Given the description of an element on the screen output the (x, y) to click on. 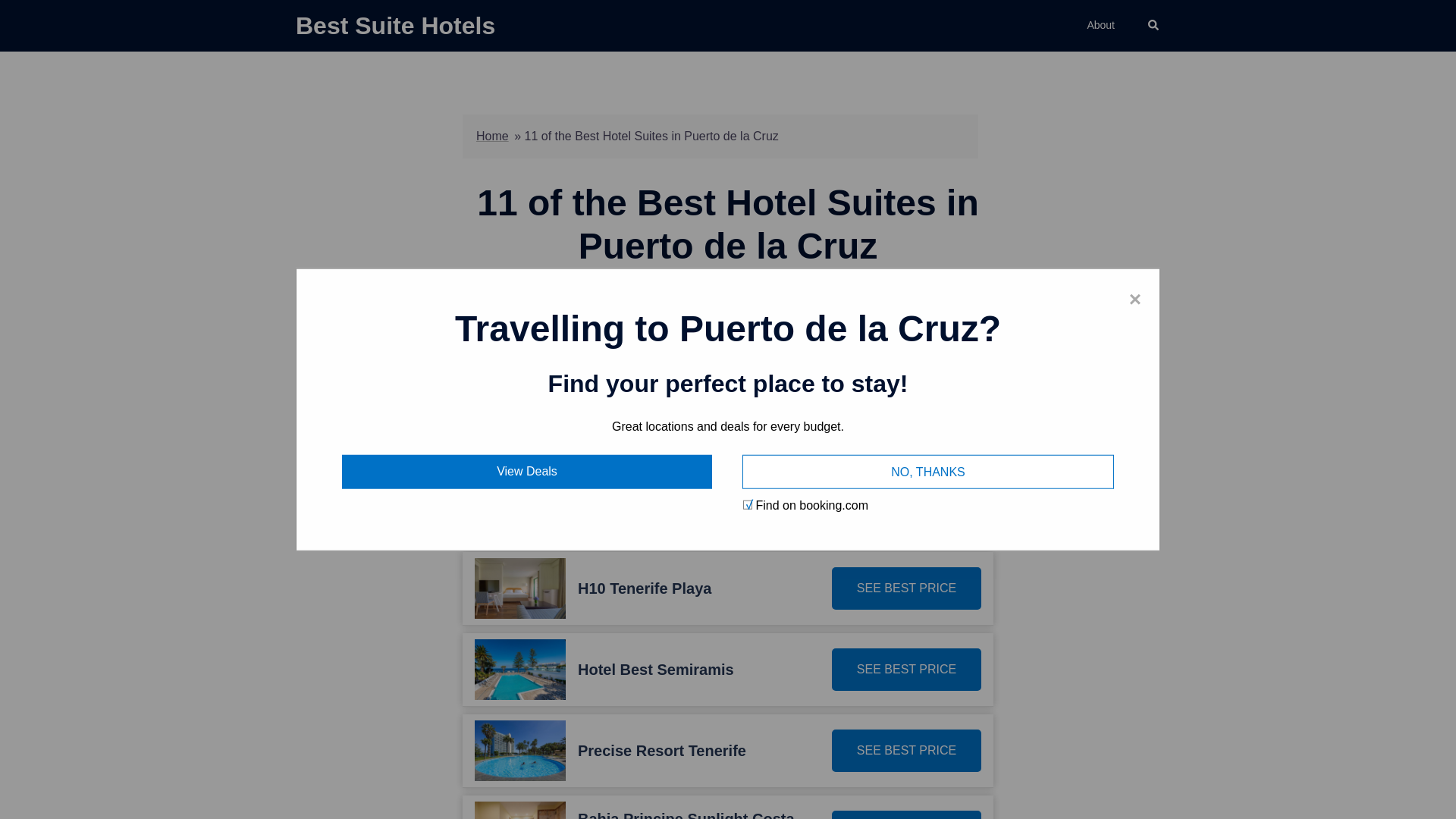
Best Suite Hotels (395, 25)
Search (1154, 25)
About (1100, 25)
DIANE WILLIAMS (676, 294)
SEPTEMBER 1, 2023 (789, 294)
Home (492, 135)
